Given the description of an element on the screen output the (x, y) to click on. 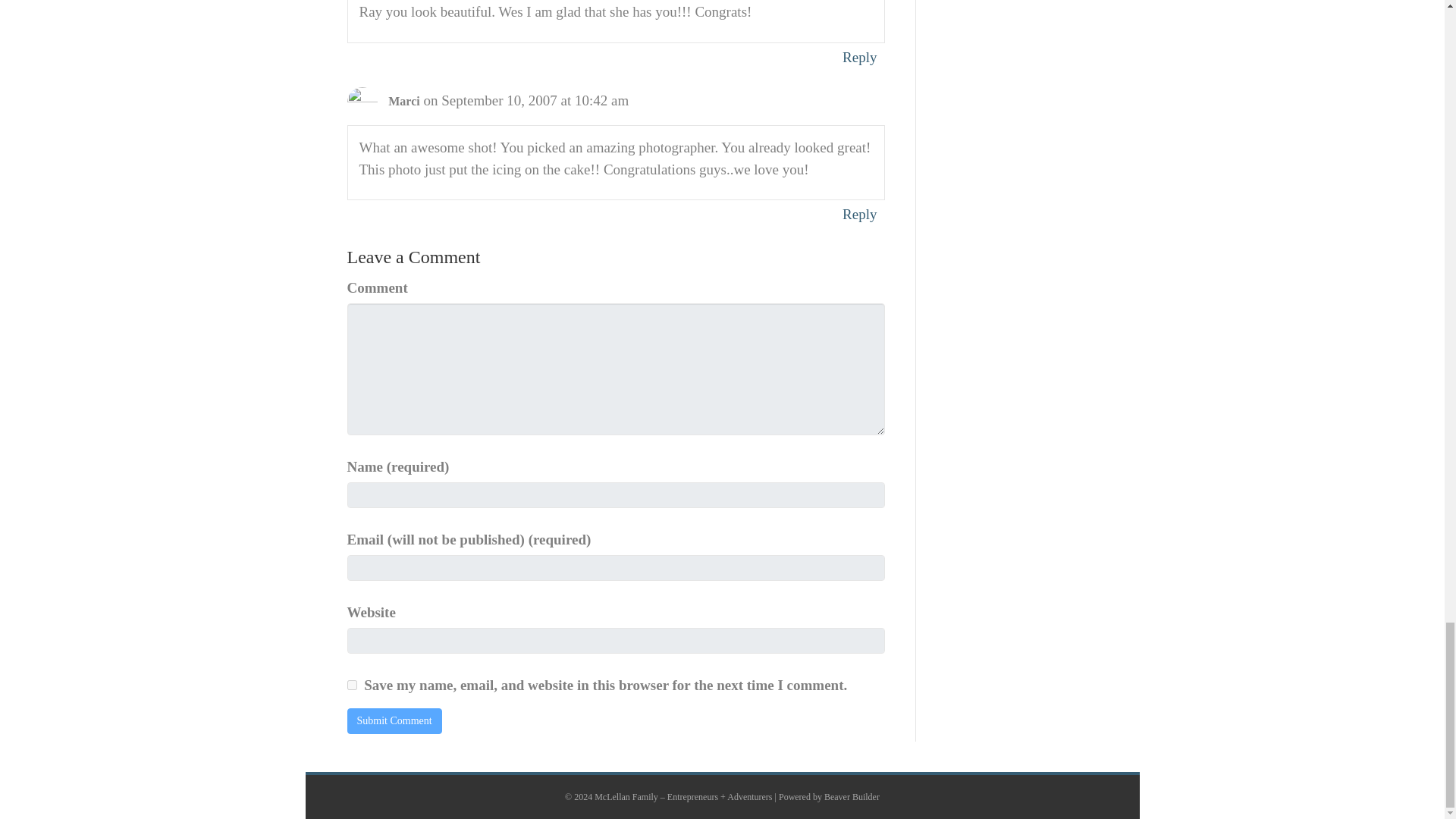
yes (351, 685)
Submit Comment (394, 720)
Reply (859, 214)
WordPress Page Builder Plugin (851, 796)
Submit Comment (394, 720)
Reply (859, 56)
